Given the description of an element on the screen output the (x, y) to click on. 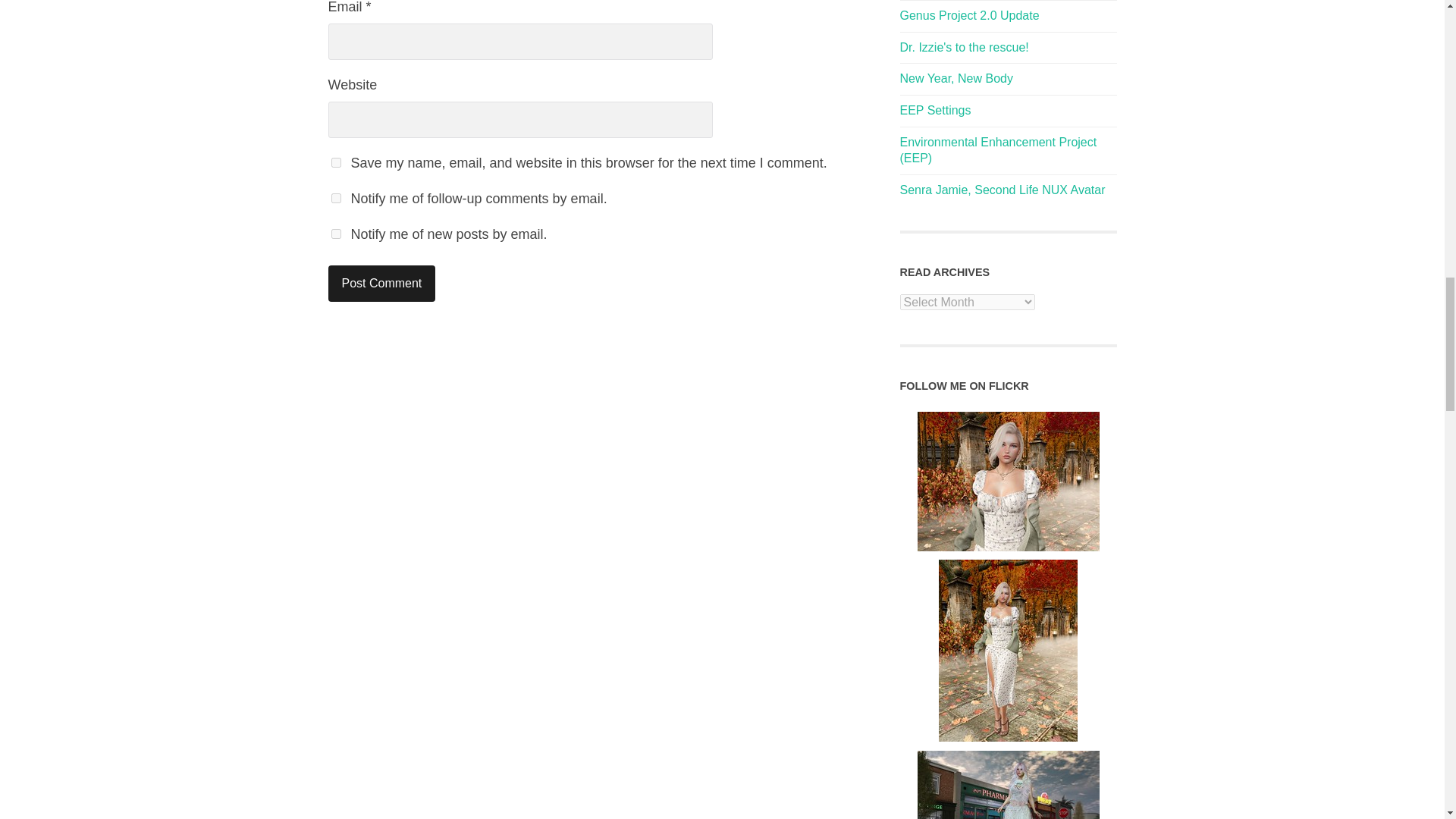
subscribe (335, 234)
Autumn (1008, 481)
subscribe (335, 198)
Weekend (1008, 785)
yes (335, 162)
Post Comment (381, 283)
